Given the description of an element on the screen output the (x, y) to click on. 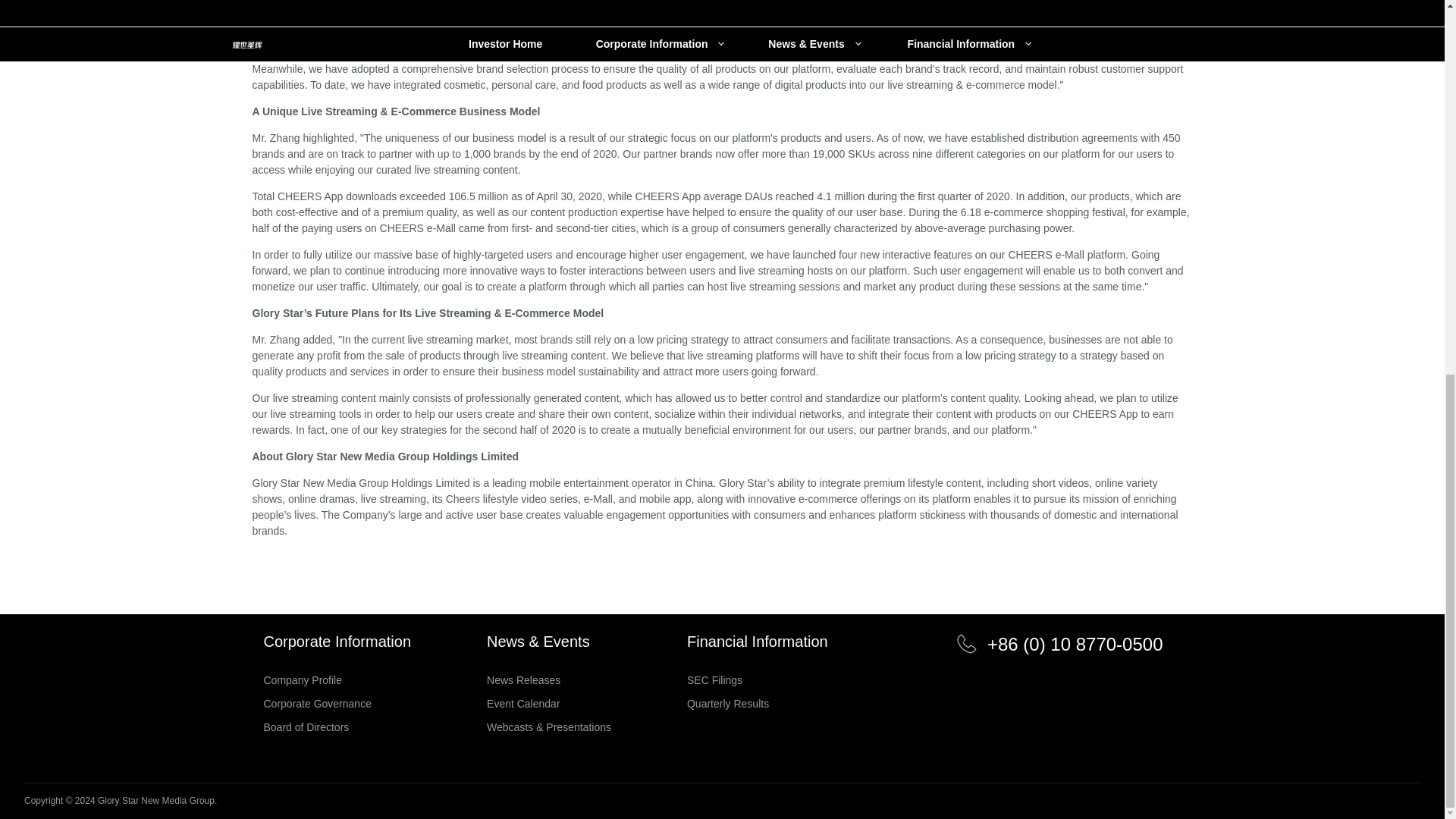
Board of Directors (337, 727)
News Releases (548, 680)
Corporate Governance (337, 703)
Quarterly Results (757, 703)
Company Profile (337, 680)
Event Calendar (548, 703)
SEC Filings (757, 680)
